Given the description of an element on the screen output the (x, y) to click on. 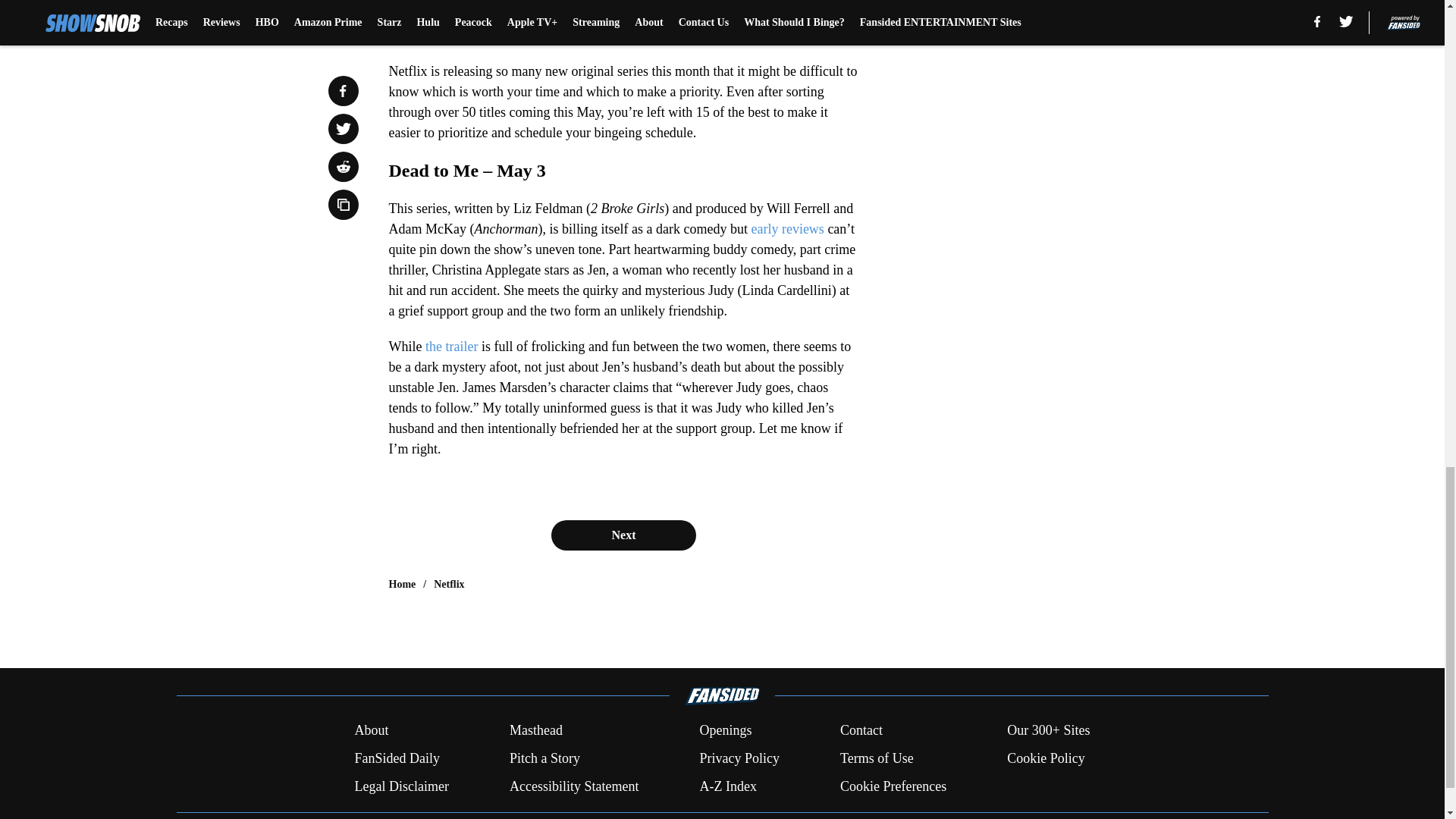
About (370, 730)
Openings (724, 730)
FanSided Daily (396, 758)
the trailer (449, 346)
early reviews (787, 228)
Contact (861, 730)
Netflix (448, 584)
Pitch a Story (544, 758)
Next (622, 535)
Masthead (535, 730)
